Given the description of an element on the screen output the (x, y) to click on. 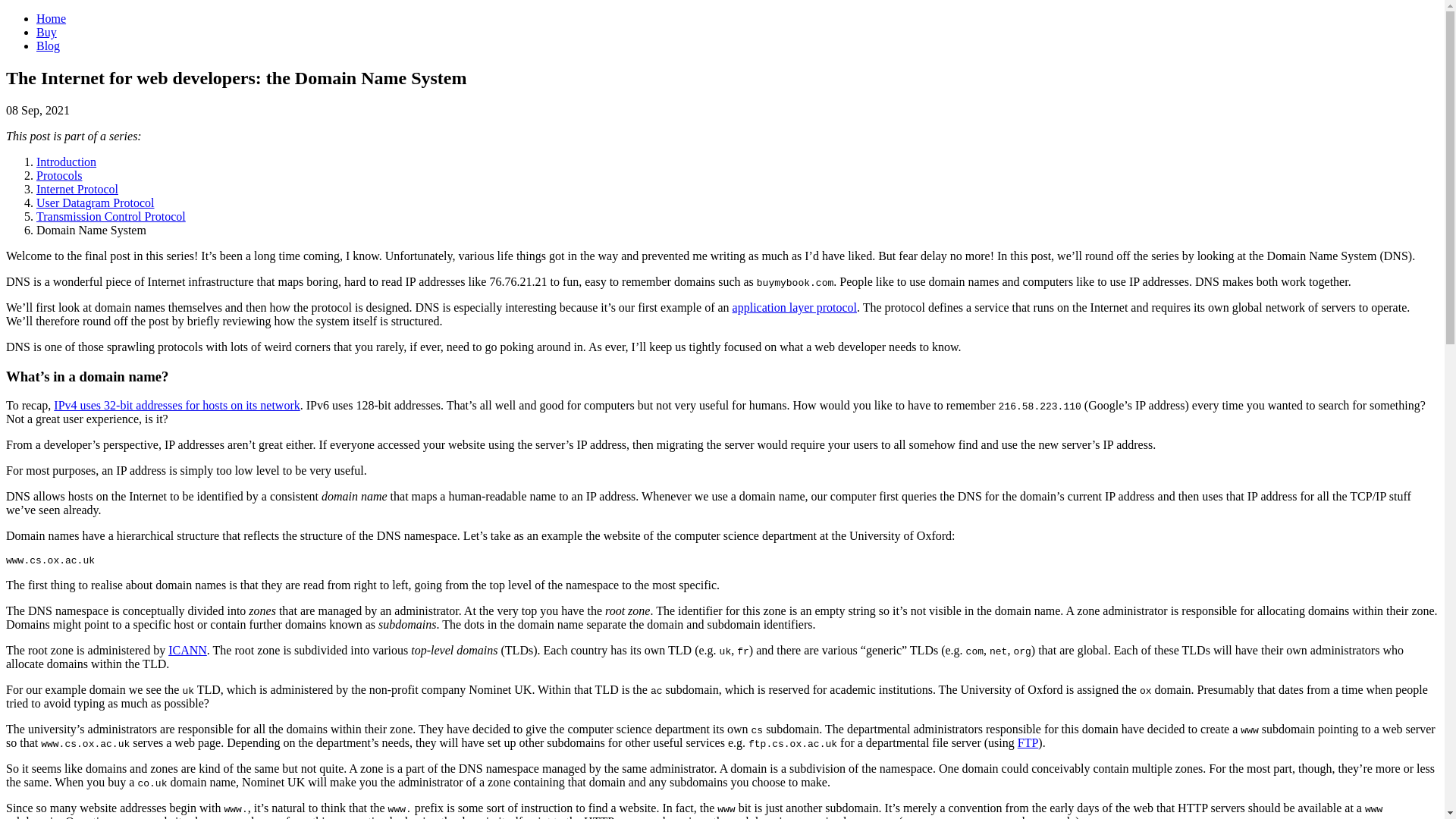
Home (50, 18)
Introduction (66, 161)
FTP (1028, 742)
Internet Protocol (76, 188)
Buy (46, 31)
User Datagram Protocol (95, 202)
application layer protocol (794, 307)
IPv4 uses 32-bit addresses for hosts on its network (176, 404)
ICANN (187, 649)
Transmission Control Protocol (111, 215)
